Given the description of an element on the screen output the (x, y) to click on. 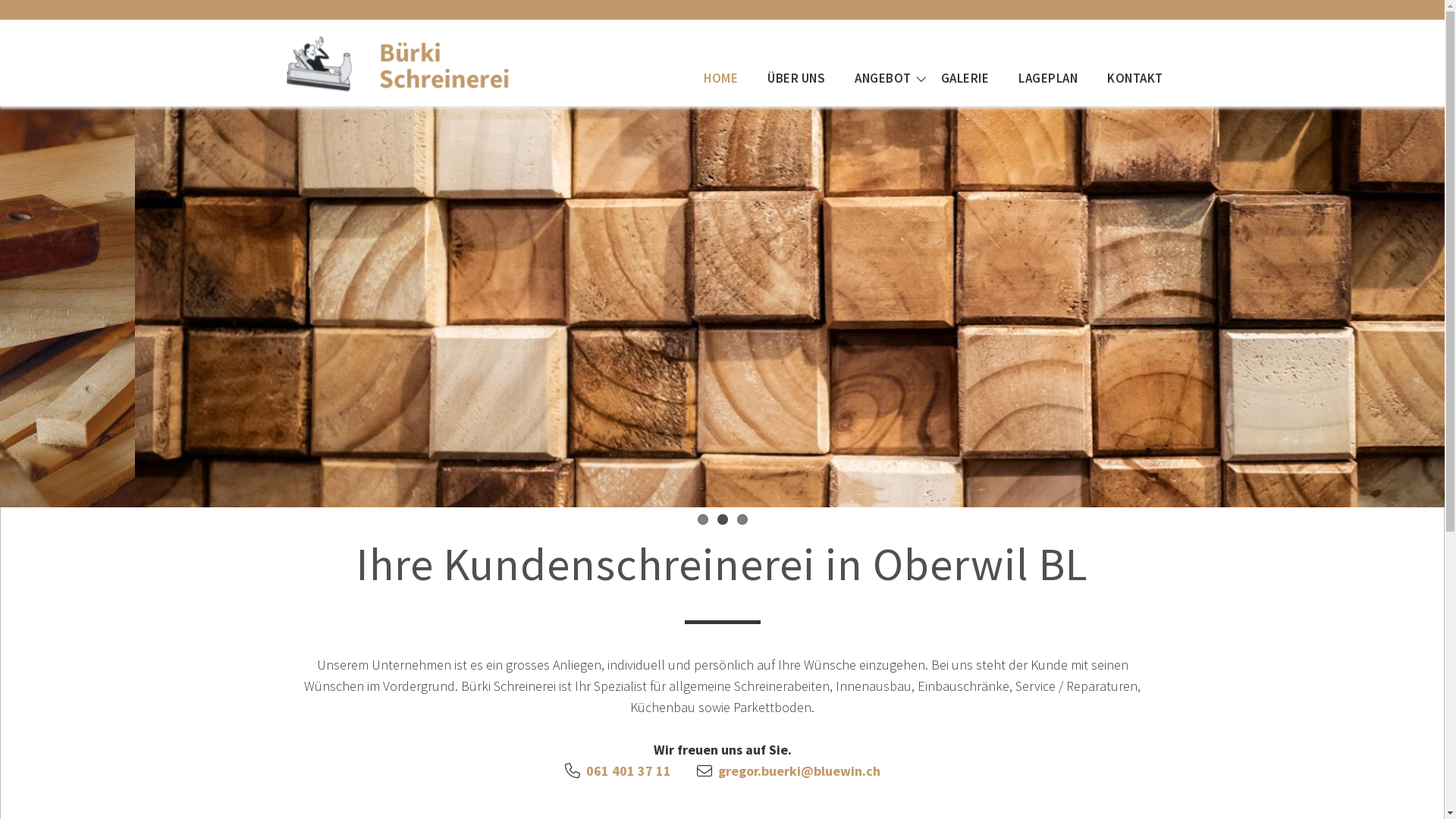
GALERIE Element type: text (964, 77)
ANGEBOT Element type: text (882, 77)
gregor.buerki@bluewin.ch Element type: text (798, 770)
LAGEPLAN Element type: text (1047, 77)
KONTAKT Element type: text (1135, 77)
061 401 37 11 Element type: text (627, 770)
1 Element type: text (702, 519)
3 Element type: text (742, 519)
HOME Element type: text (720, 77)
2 Element type: text (722, 519)
